Given the description of an element on the screen output the (x, y) to click on. 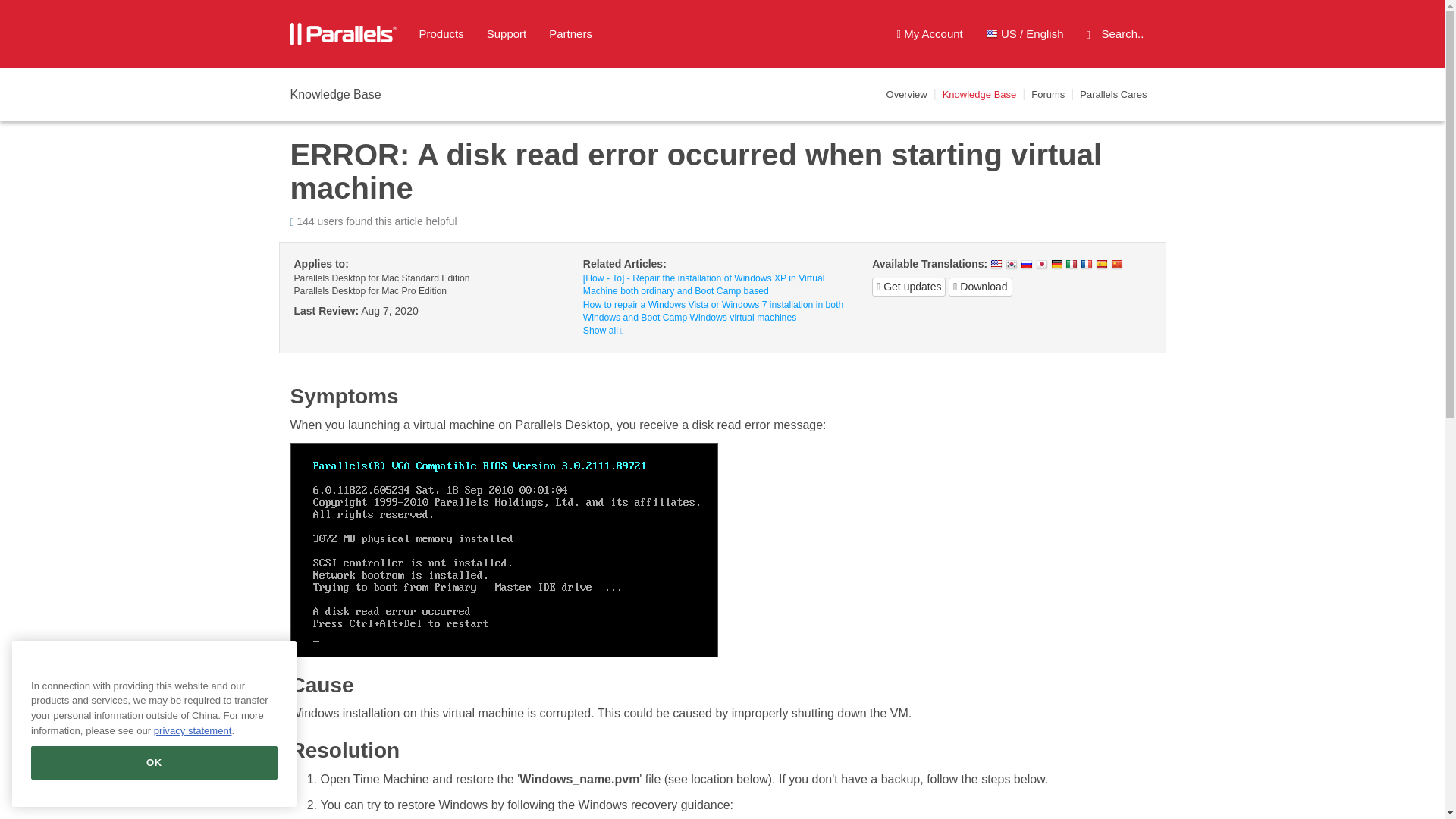
Support (507, 34)
Partners (570, 34)
Show all (603, 330)
My Account (929, 34)
My Account (929, 34)
Parallels Cares (1112, 94)
Overview (906, 94)
Save as PDF (980, 286)
Subscribe to article updates (908, 286)
